Given the description of an element on the screen output the (x, y) to click on. 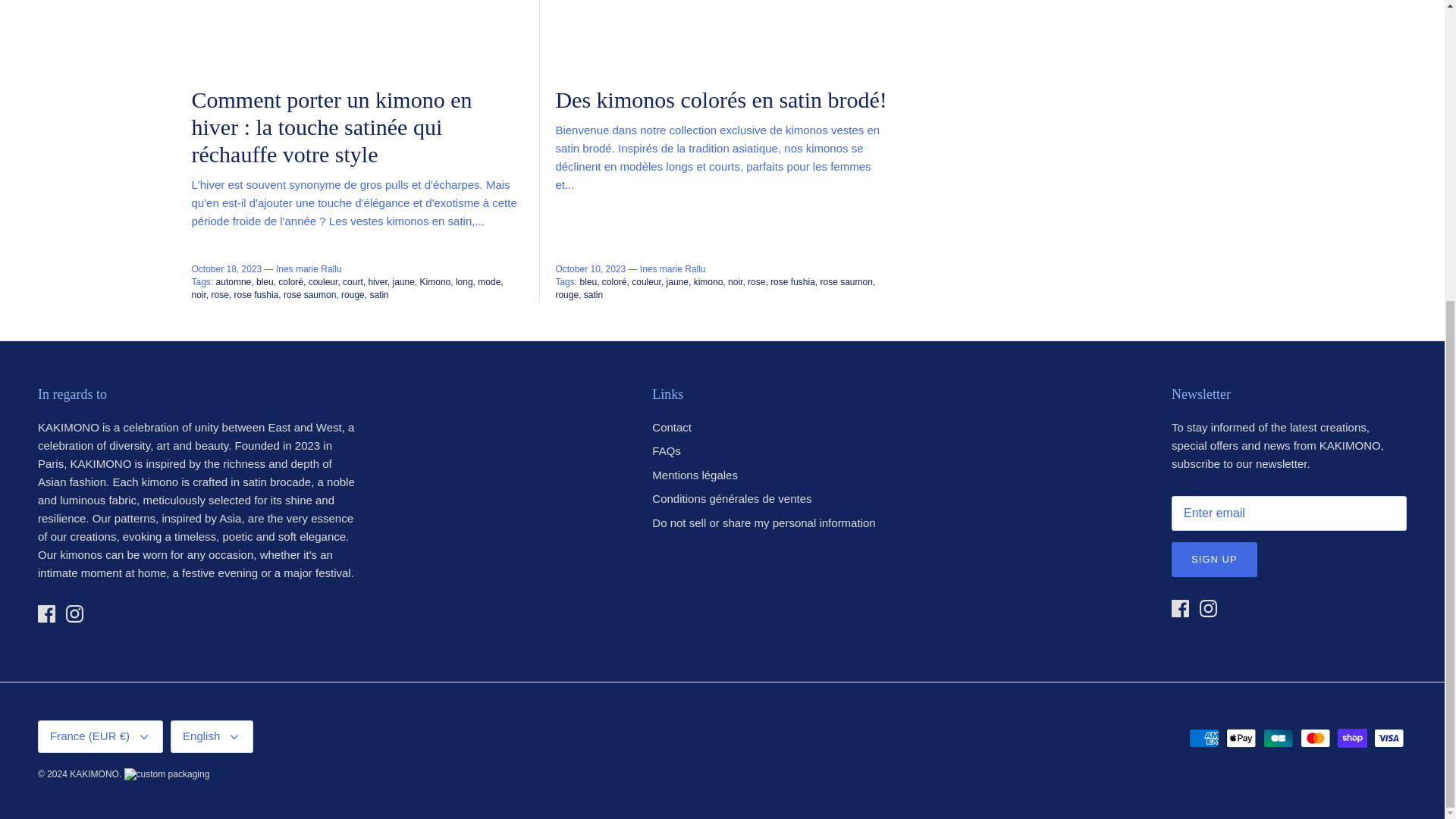
Show articles tagged hiver (379, 281)
Show articles tagged court (353, 281)
Facebook (46, 613)
Show articles tagged Kimono (436, 281)
Facebook (1180, 608)
Show articles tagged jaune (403, 281)
Shop Pay (1352, 737)
American Express (1203, 737)
Instagram (1208, 608)
Show articles tagged satin (378, 294)
Show articles tagged bleu (266, 281)
Show articles tagged rose saumon (311, 294)
Show articles tagged mode (489, 281)
Show articles tagged rouge (353, 294)
Show articles tagged noir (199, 294)
